Given the description of an element on the screen output the (x, y) to click on. 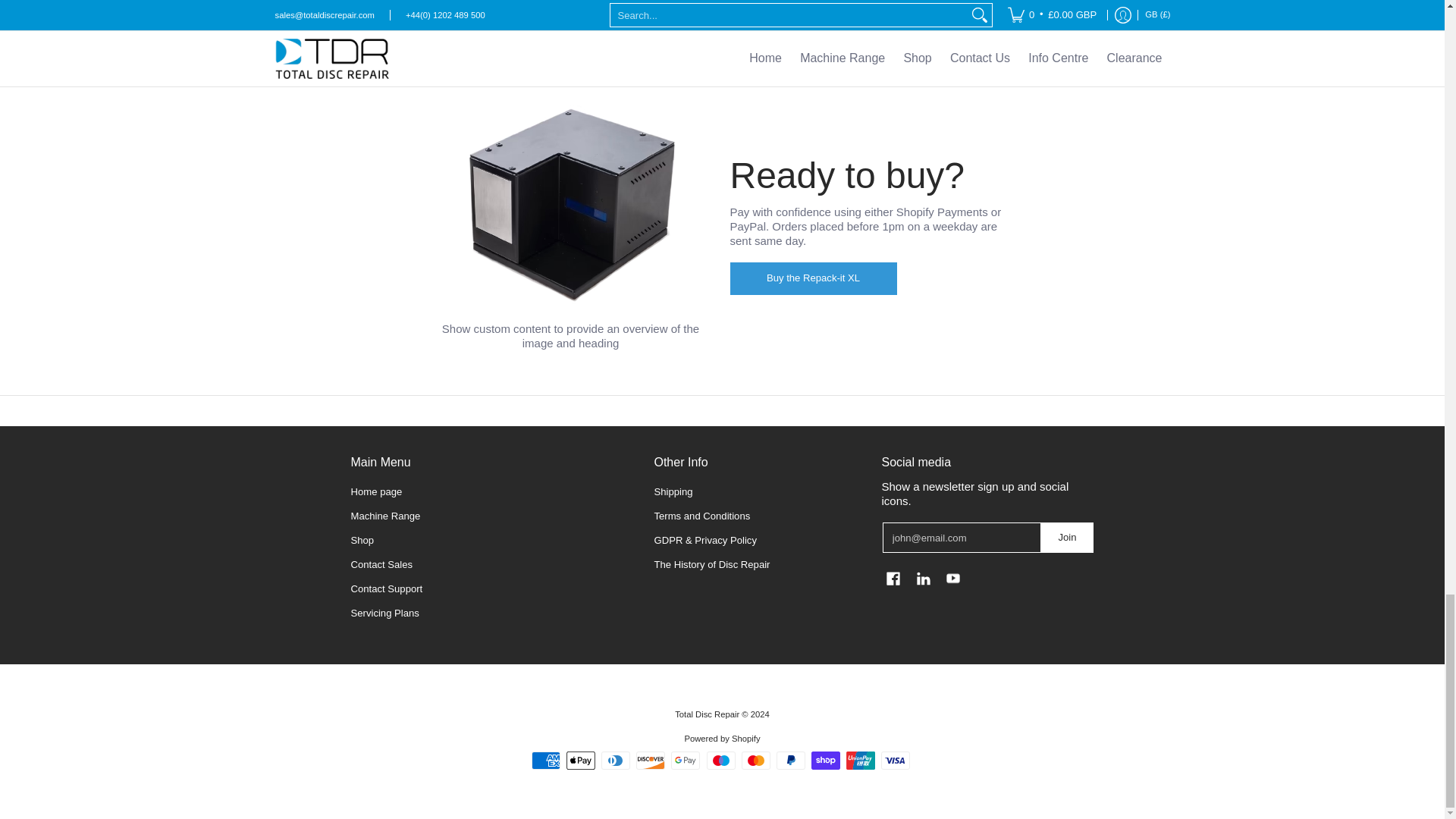
American Express (545, 760)
Visa (895, 760)
Union Pay (860, 760)
Discover (650, 760)
Diners Club (615, 760)
Apple Pay (580, 760)
Google Pay (685, 760)
PayPal (790, 760)
Shop Pay (825, 760)
Maestro (720, 760)
Mastercard (755, 760)
